Given the description of an element on the screen output the (x, y) to click on. 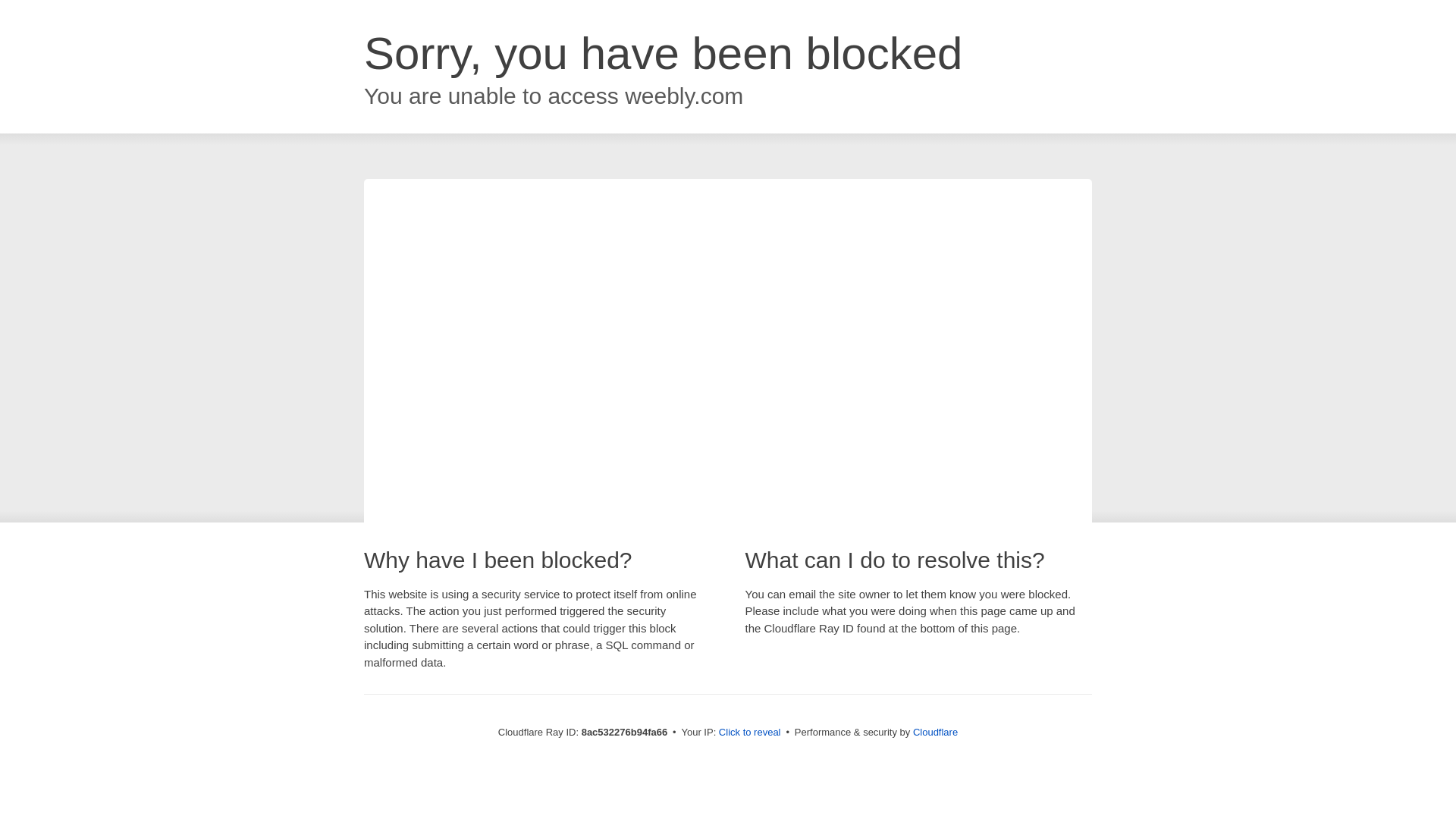
Cloudflare (935, 731)
Click to reveal (749, 732)
